Given the description of an element on the screen output the (x, y) to click on. 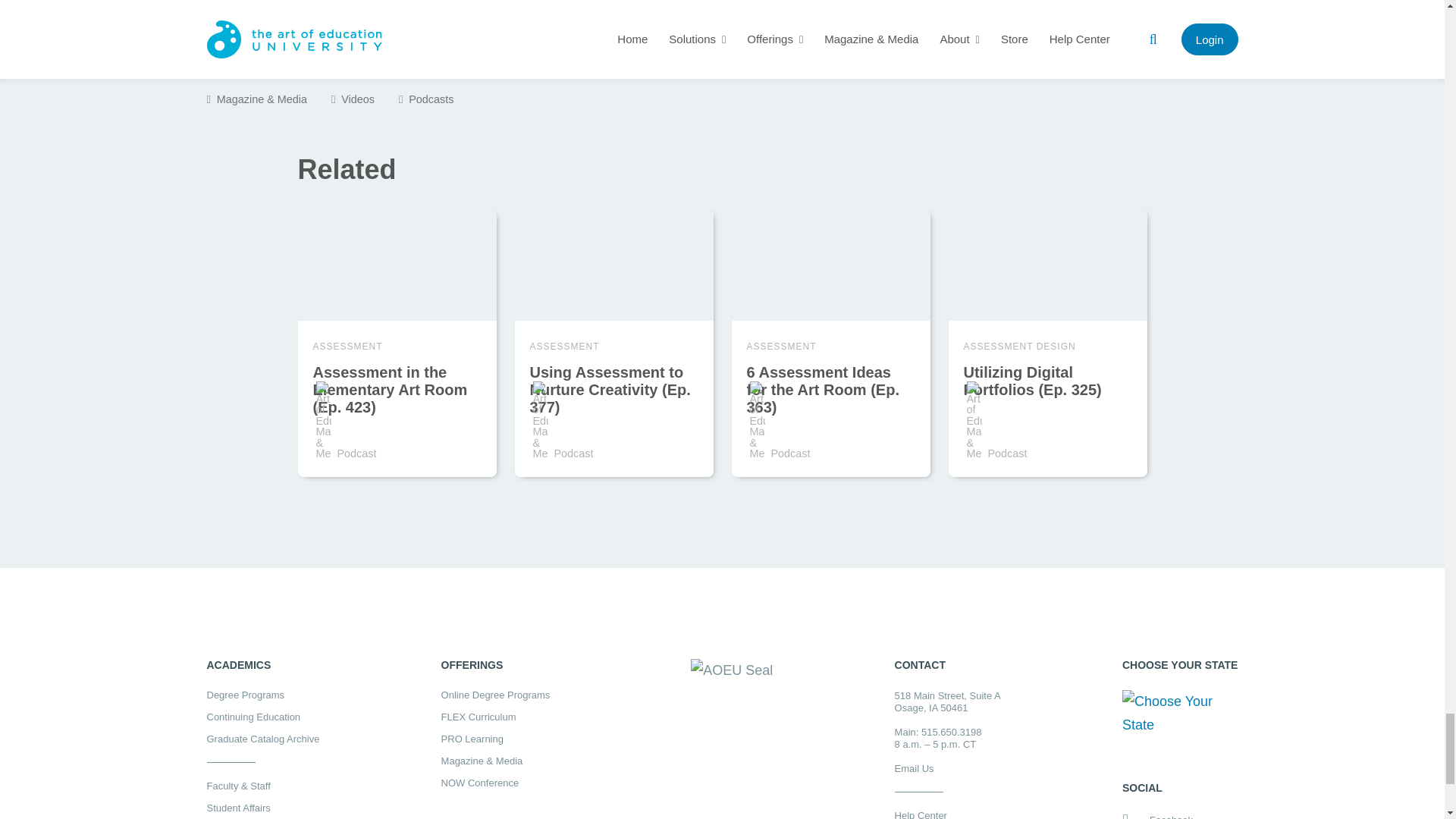
Student Affairs (262, 808)
Graduate Catalog Archive (262, 738)
Degree Programs (262, 695)
Continuing Education (262, 716)
